Given the description of an element on the screen output the (x, y) to click on. 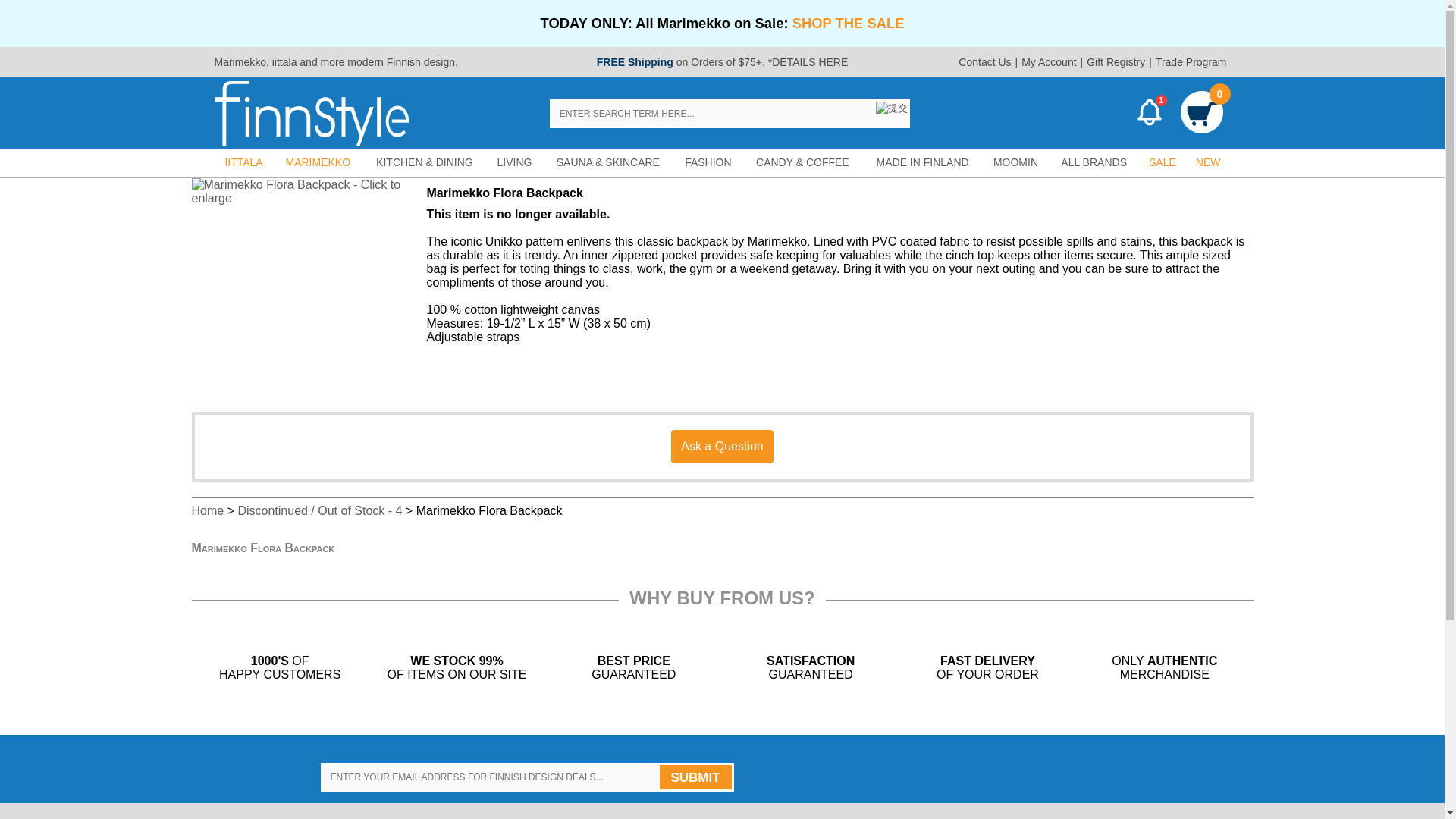
Contact Us (984, 61)
ALL BRANDS (1094, 162)
SHOP THE SALE (848, 23)
iittala (284, 61)
LIVING (514, 162)
Marimekko (239, 61)
FASHION (708, 162)
Gift Registry (1115, 61)
MOOMIN (1016, 162)
Trade Program (1190, 61)
SUBMIT (695, 776)
IITTALA (242, 162)
MARIMEKKO (318, 162)
My Account (1048, 61)
SALE (1162, 162)
